Given the description of an element on the screen output the (x, y) to click on. 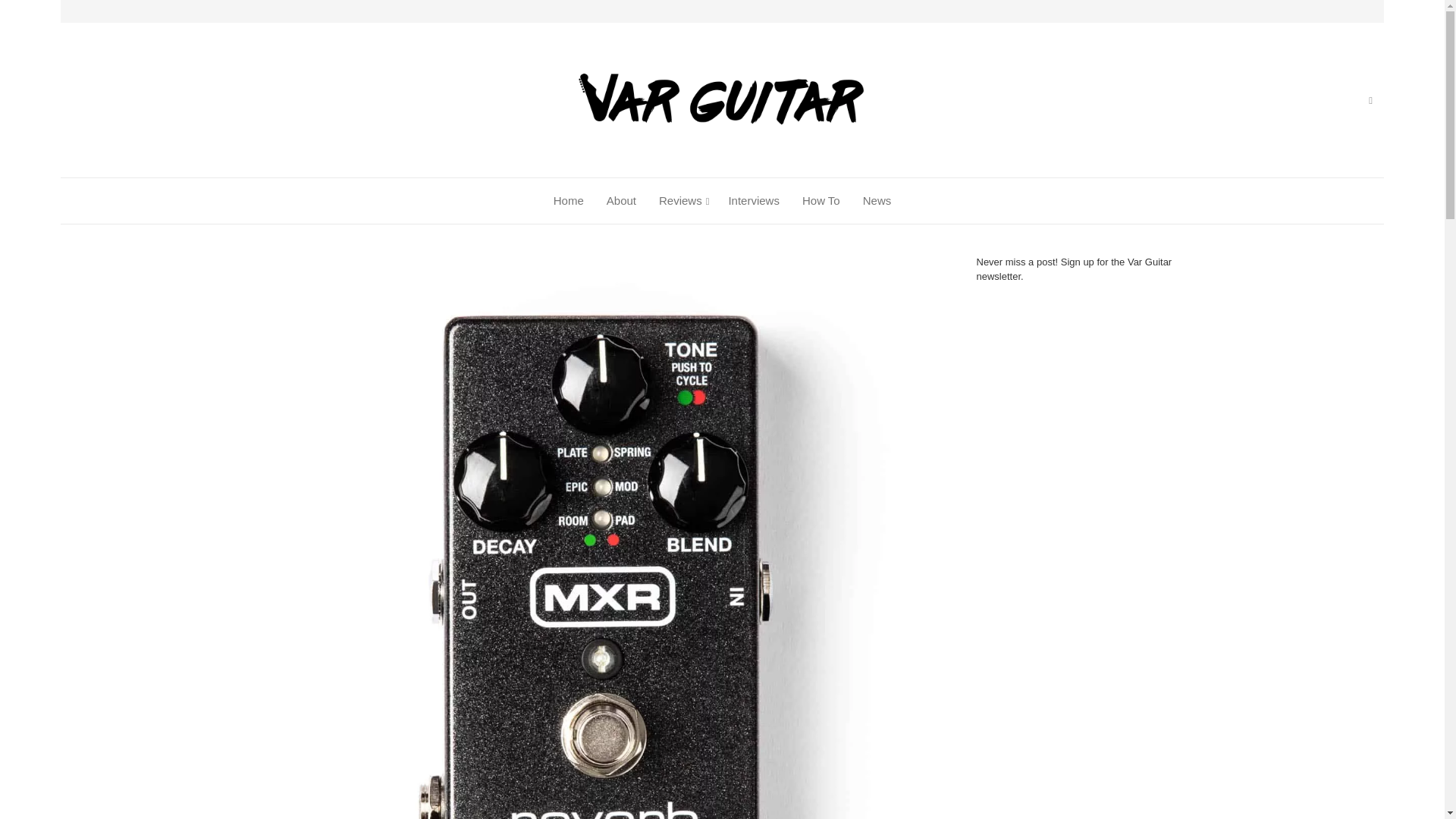
Interviews (753, 200)
Reviews (680, 200)
